Given the description of an element on the screen output the (x, y) to click on. 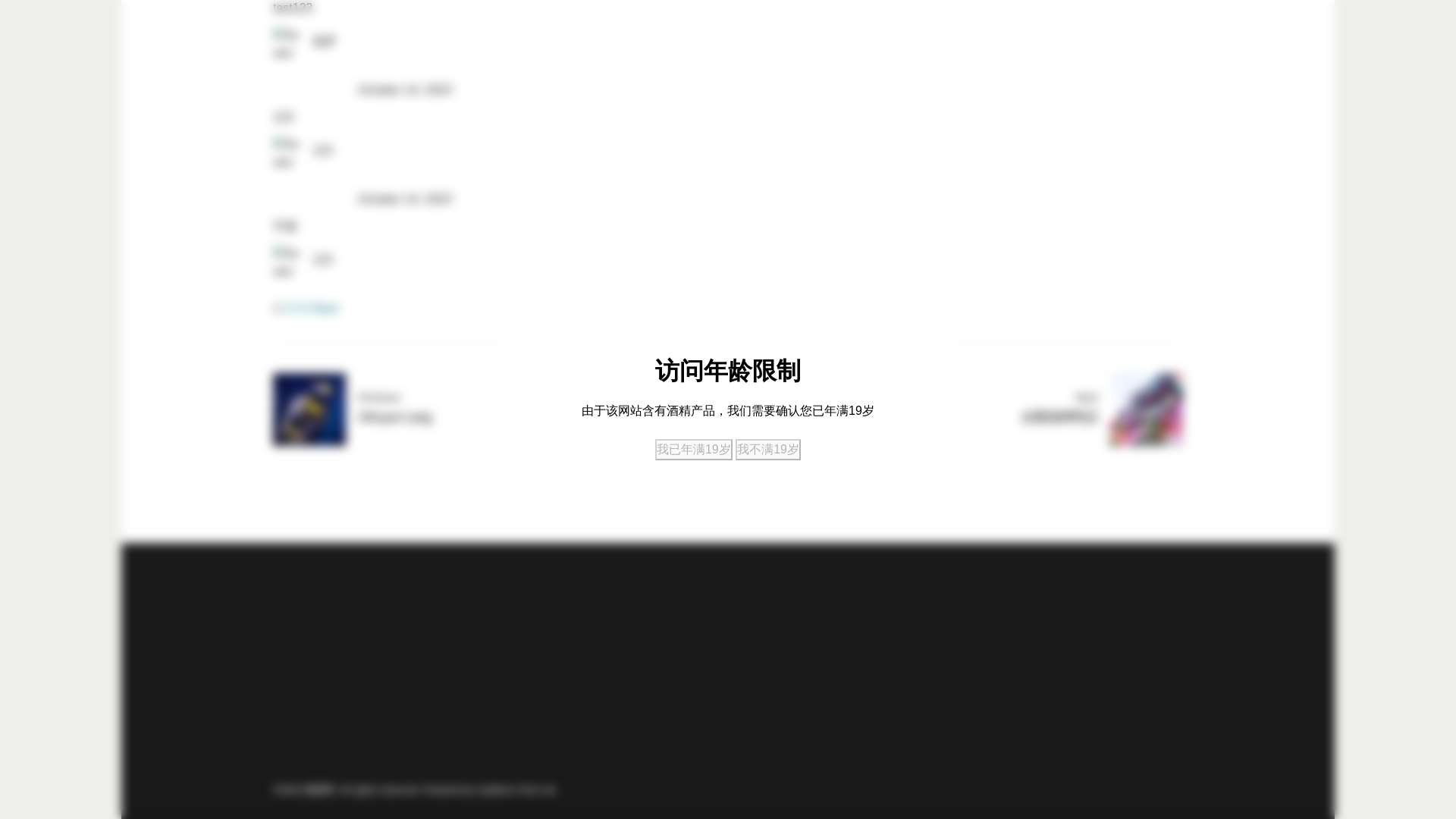
Subscribe (1052, 658)
